Given the description of an element on the screen output the (x, y) to click on. 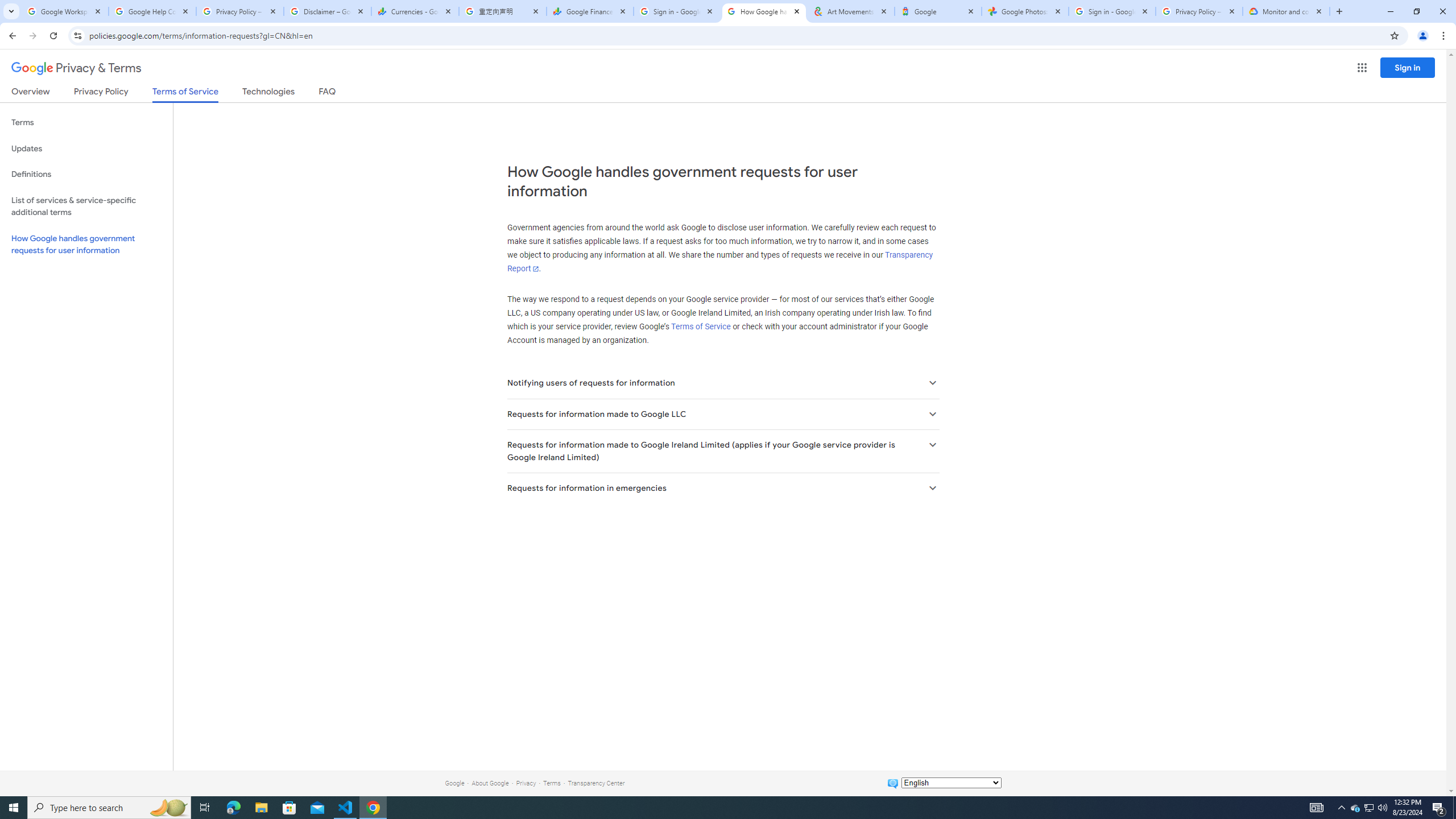
Change language: (951, 782)
